Given the description of an element on the screen output the (x, y) to click on. 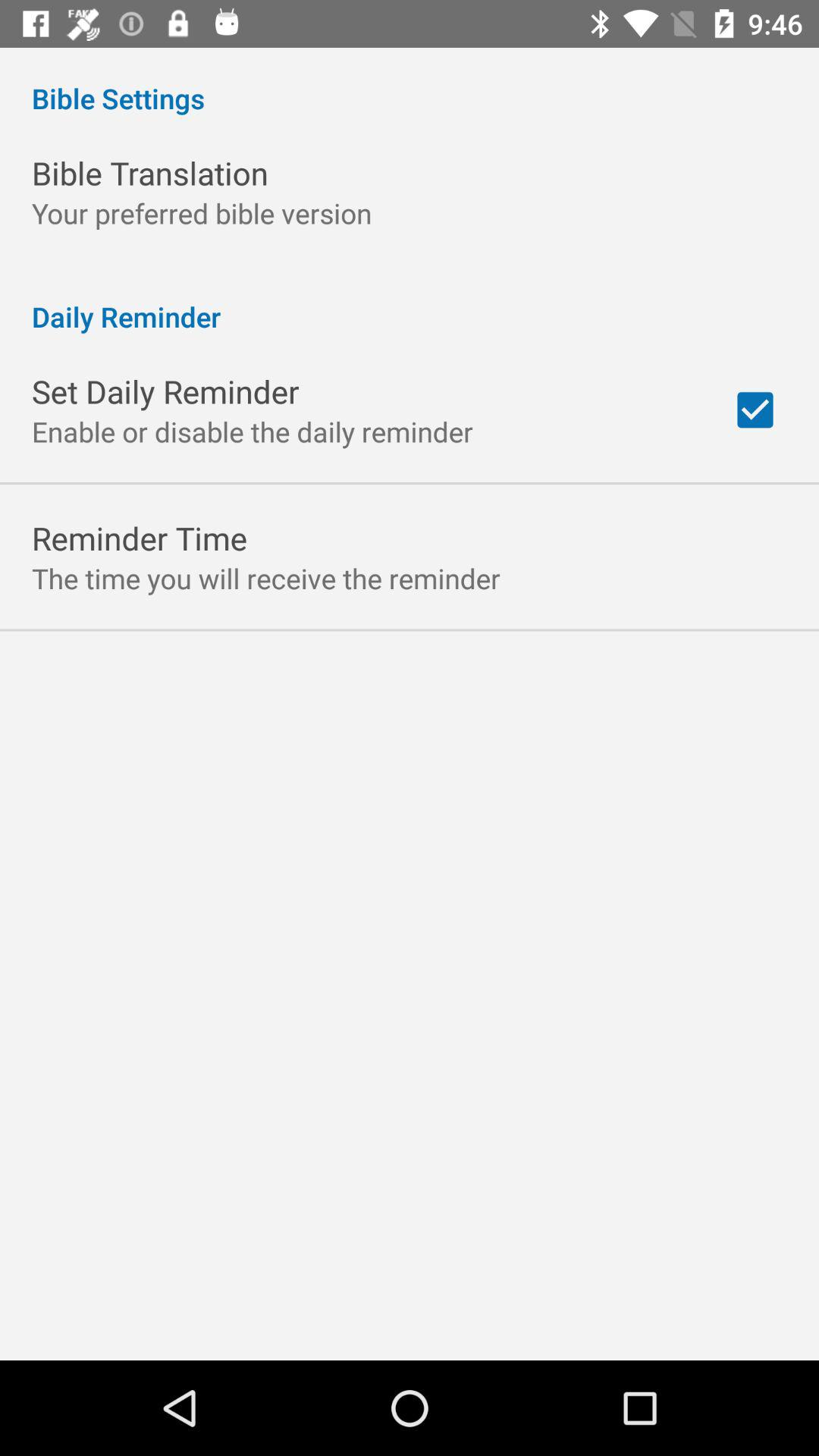
tap item above your preferred bible (149, 172)
